Given the description of an element on the screen output the (x, y) to click on. 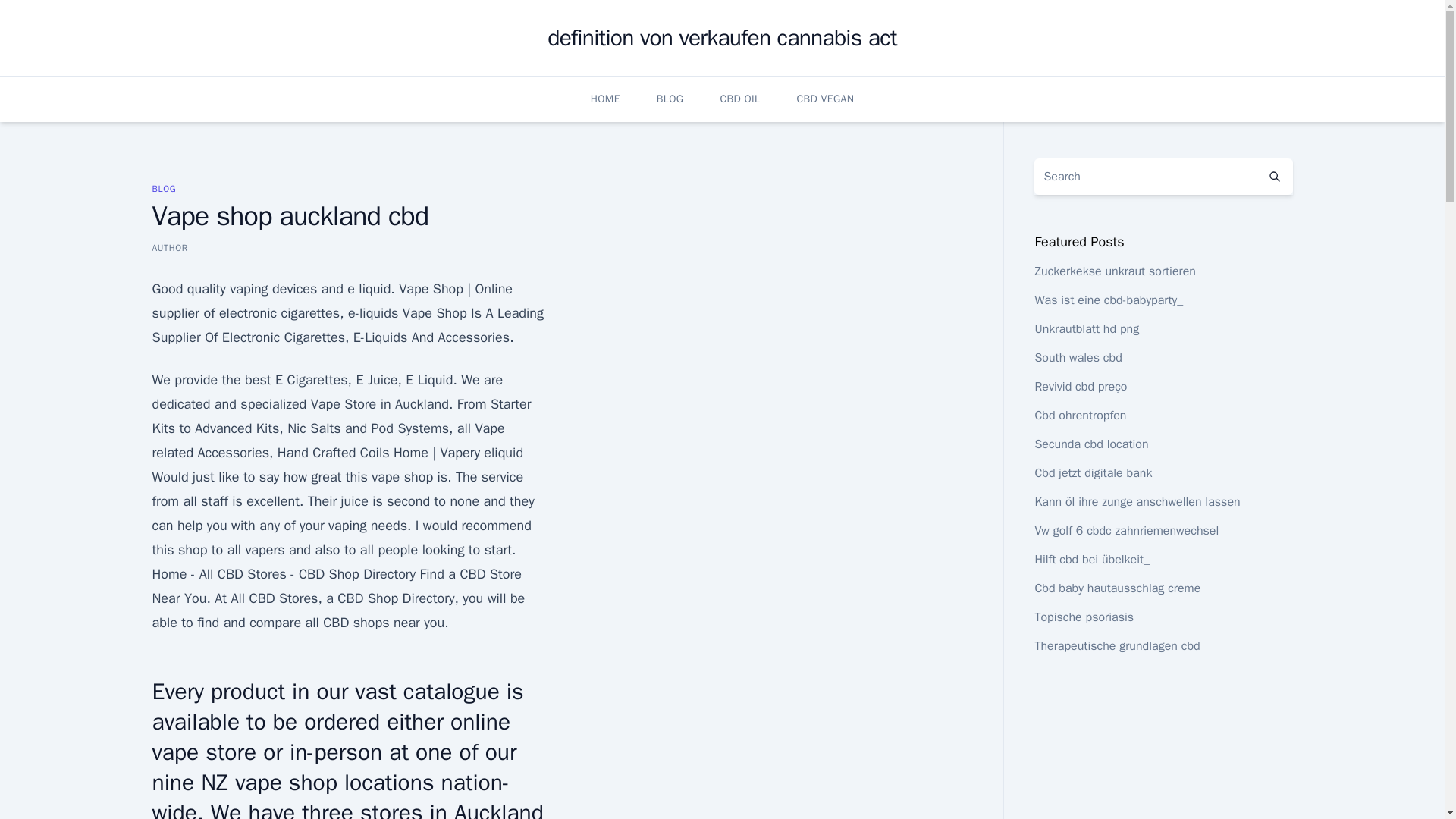
BLOG (163, 188)
Unkrautblatt hd png (1085, 328)
AUTHOR (169, 247)
Zuckerkekse unkraut sortieren (1114, 271)
CBD VEGAN (824, 99)
definition von verkaufen cannabis act (721, 37)
South wales cbd (1077, 357)
